Given the description of an element on the screen output the (x, y) to click on. 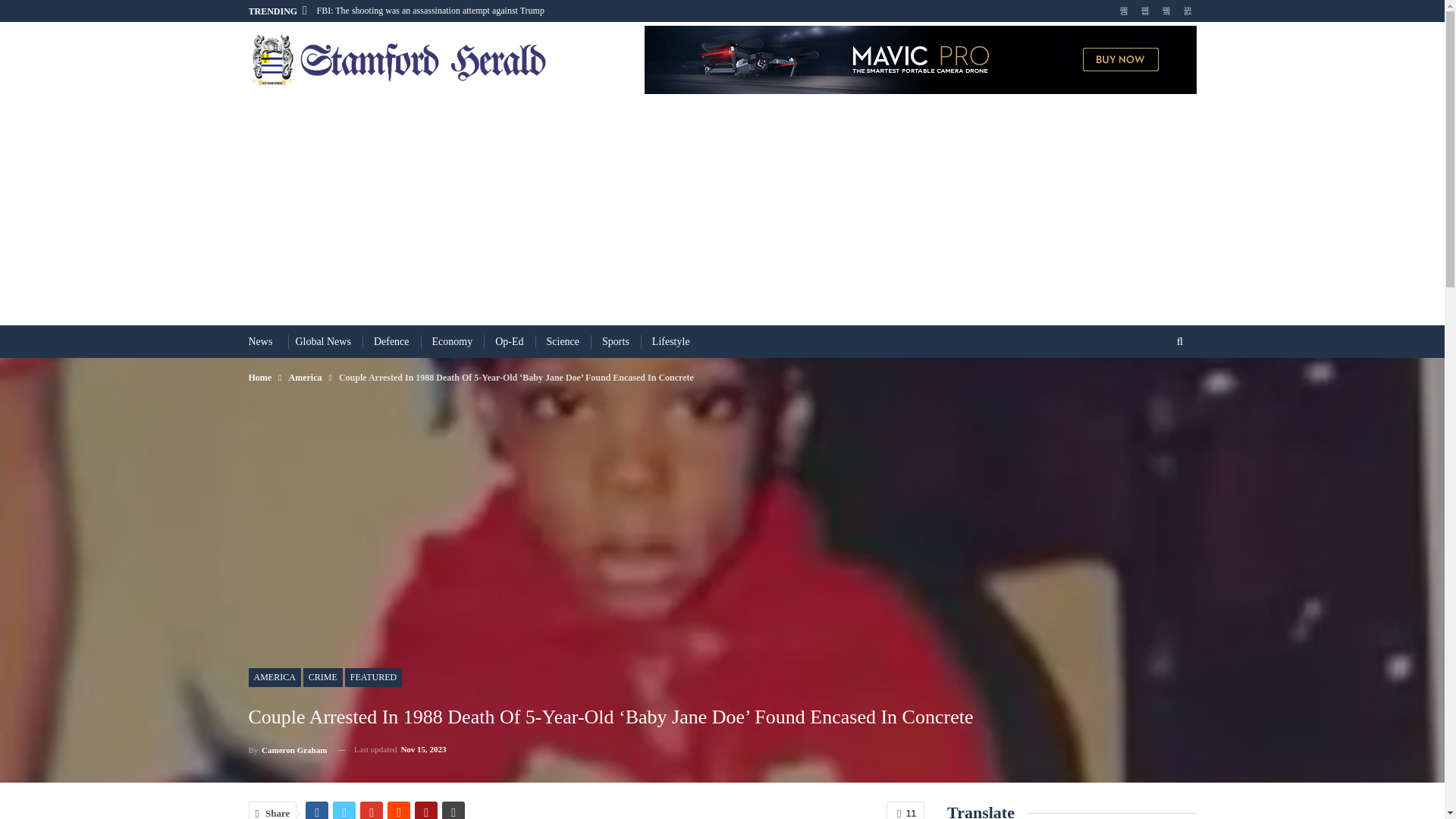
News (260, 341)
Browse Author Articles (287, 749)
FBI: The shooting was an assassination attempt against Trump (430, 9)
Global News (322, 341)
